Given the description of an element on the screen output the (x, y) to click on. 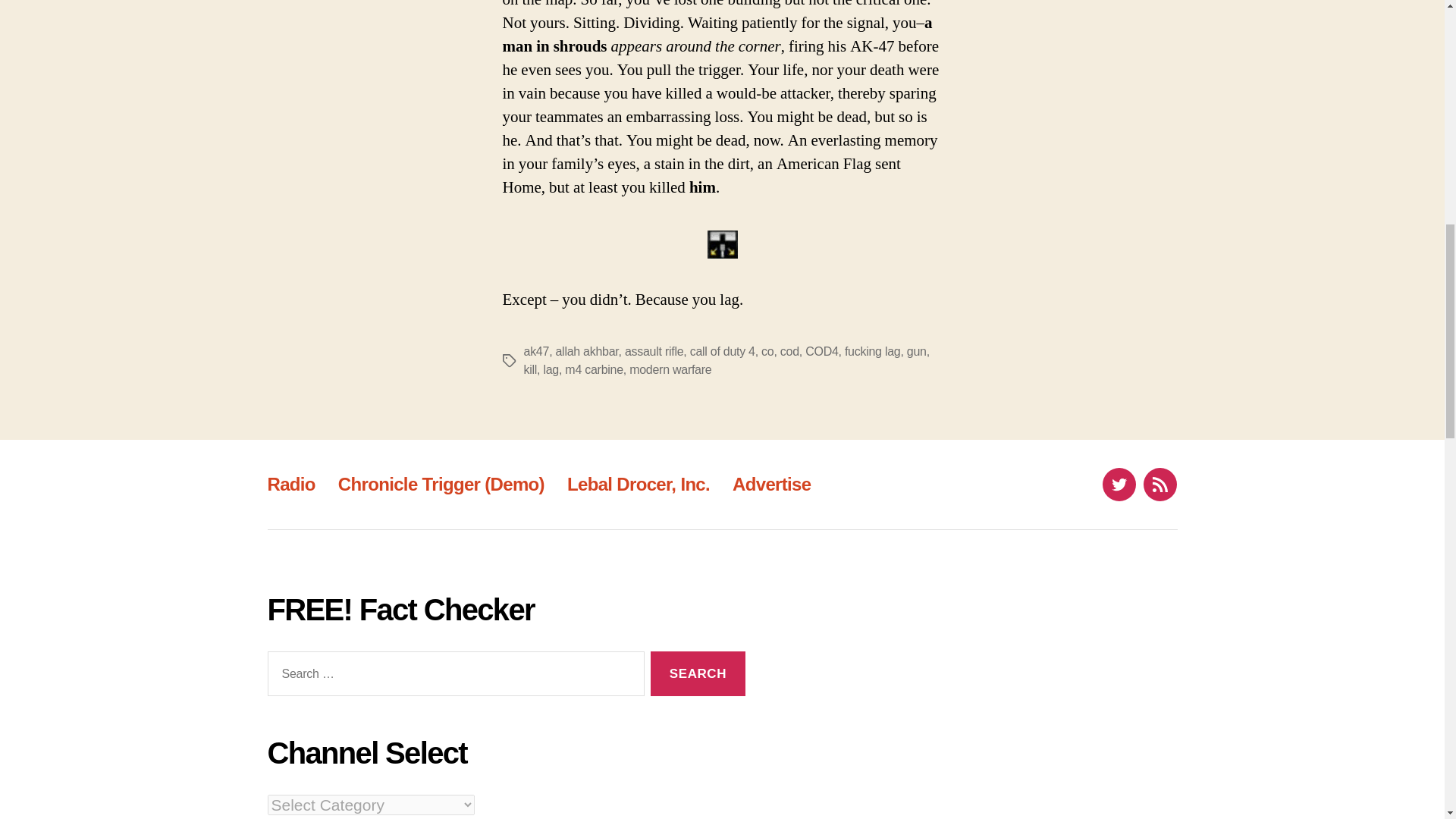
ak47 (535, 350)
gun (916, 350)
Radio (290, 484)
lag (551, 369)
assault rifle (653, 350)
Search (697, 673)
call of duty 4 (722, 350)
allah akhbar (585, 350)
cod (789, 350)
Search (697, 673)
Lebal Drocer, Inc. (638, 484)
modern warfare (669, 369)
co (767, 350)
Connection Interrupted (721, 244)
fucking lag (872, 350)
